Given the description of an element on the screen output the (x, y) to click on. 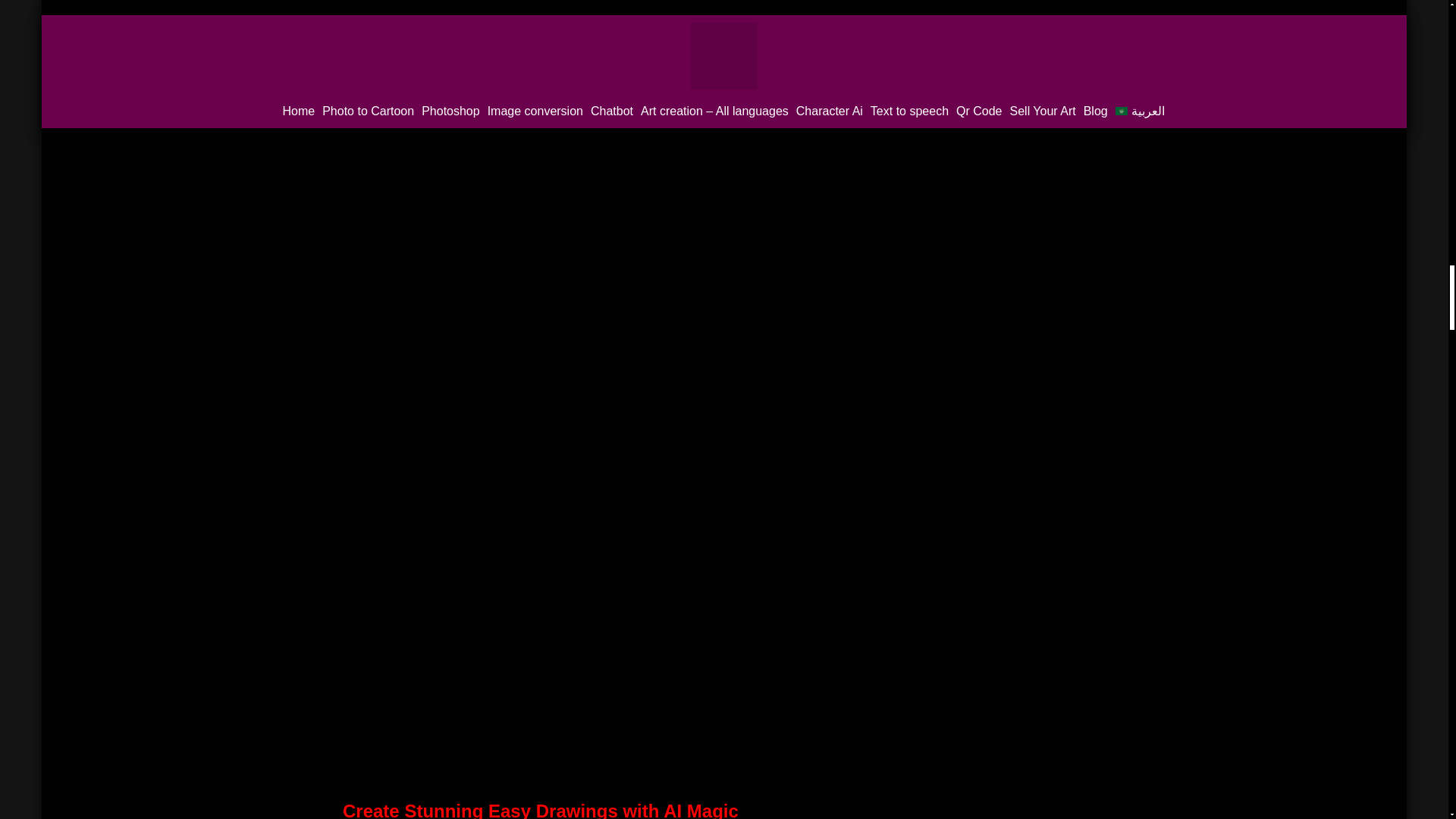
Pencil easy drawings (724, 61)
